Given the description of an element on the screen output the (x, y) to click on. 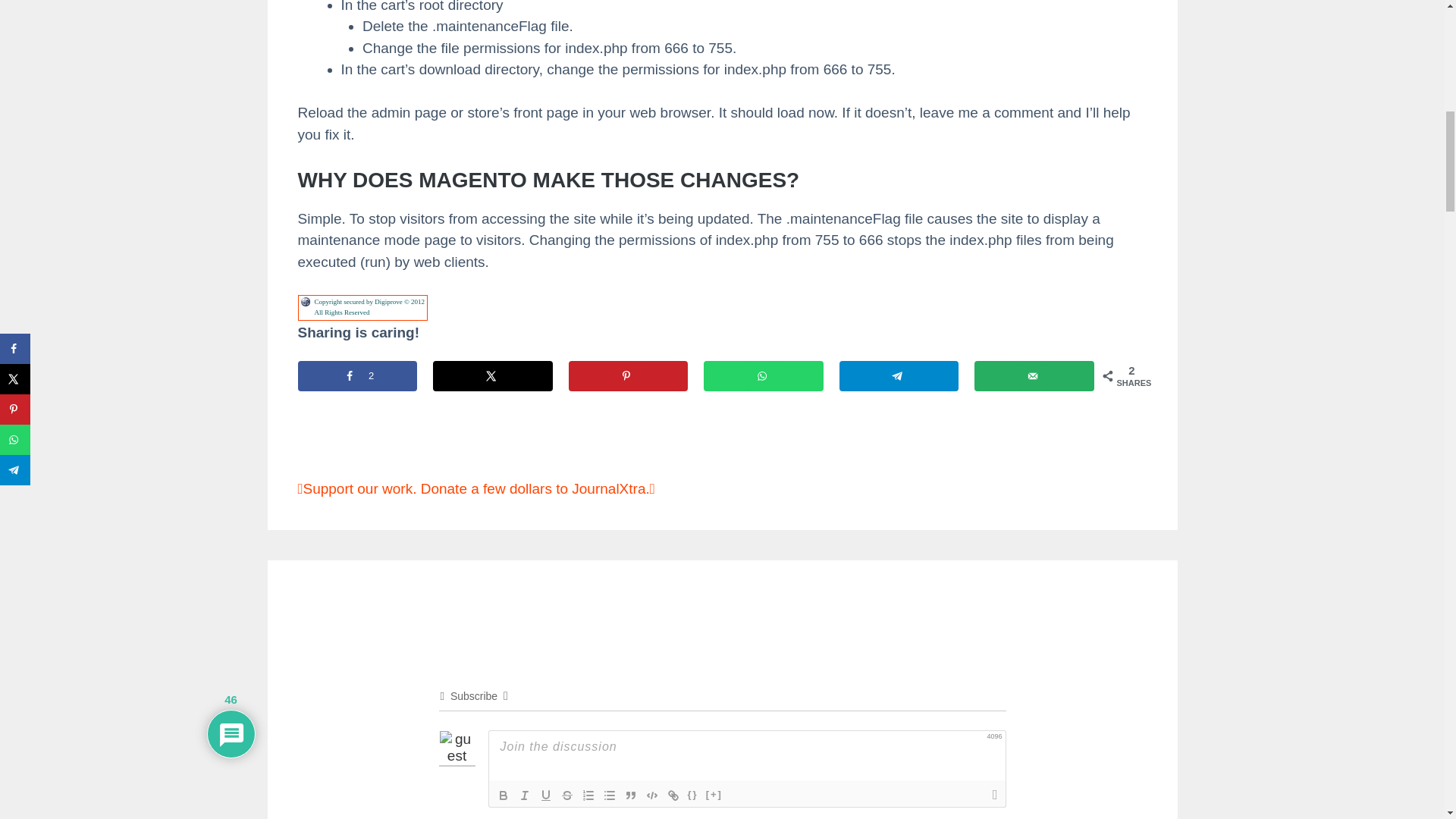
Bold (503, 795)
Share on Facebook (356, 376)
Click to see details of license (362, 311)
2 (356, 376)
Share on X (492, 376)
Magento (341, 431)
Share on WhatsApp (763, 376)
Is Google Screwing Up? (382, 450)
Share on Telegram (898, 376)
All Rights Reserved (362, 311)
Italic (524, 795)
Support our work. Donate a few dollars to JournalXtra. (475, 488)
Underline (545, 795)
Save to Pinterest (628, 376)
